Given the description of an element on the screen output the (x, y) to click on. 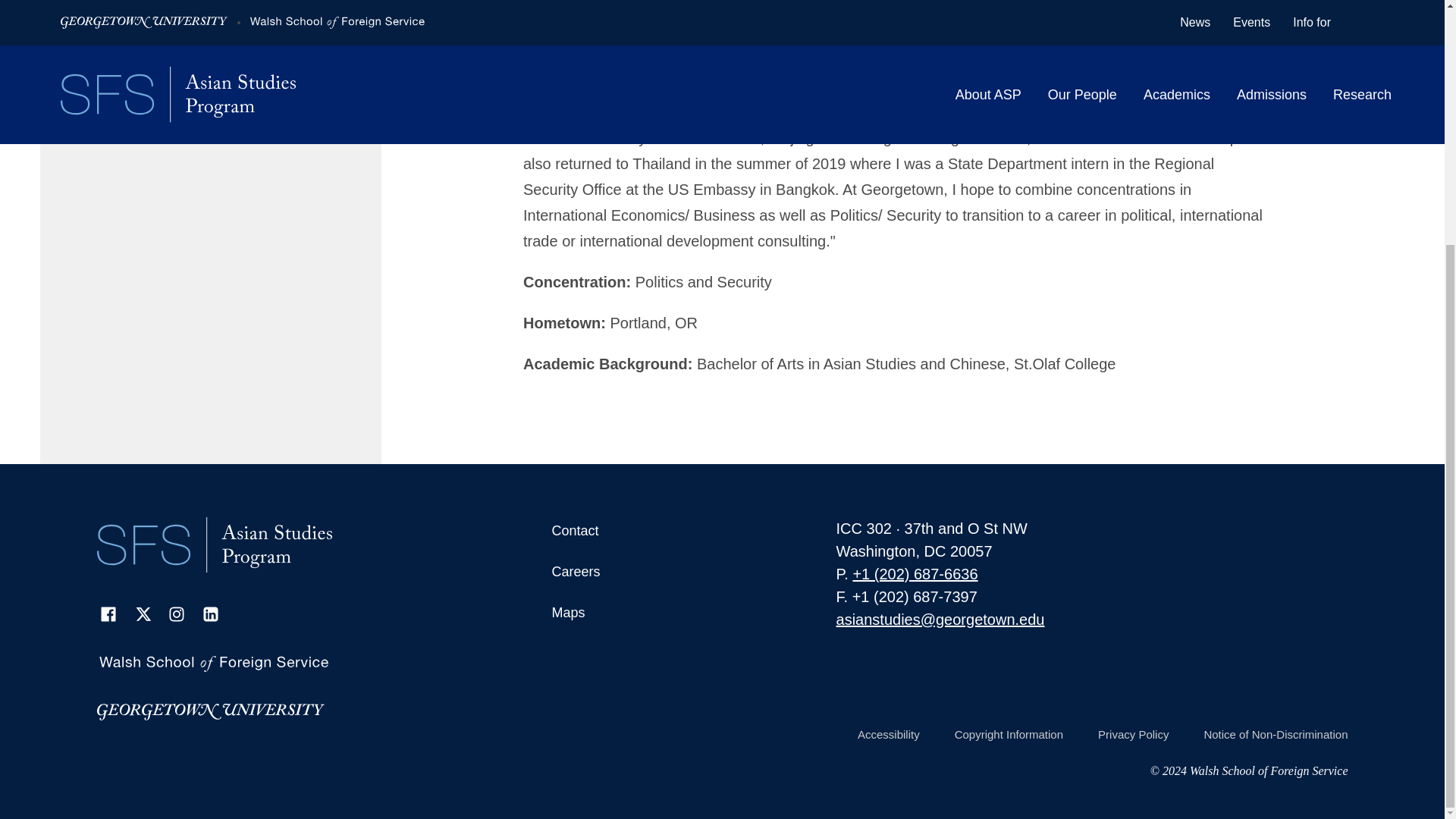
Instagram (176, 613)
LinkedIn (209, 613)
X (141, 613)
Facebook (108, 613)
